Given the description of an element on the screen output the (x, y) to click on. 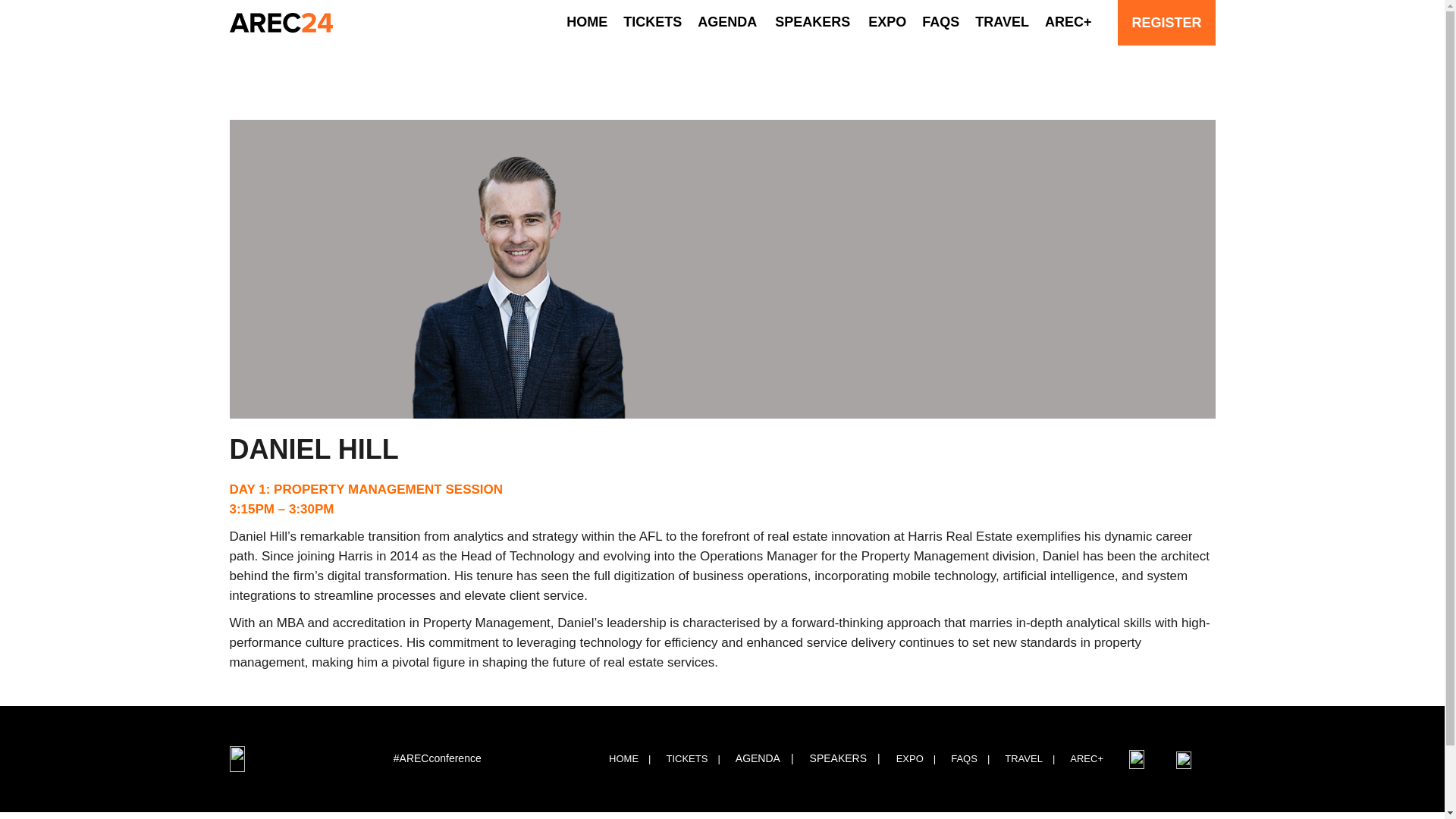
AGENDA (770, 759)
TICKETS (652, 22)
HOME (586, 22)
SPEAKERS (812, 22)
AGENDA (727, 22)
EXPO (886, 22)
HOME (634, 759)
TRAVEL (1002, 22)
TICKETS (697, 759)
FAQS (940, 22)
